Given the description of an element on the screen output the (x, y) to click on. 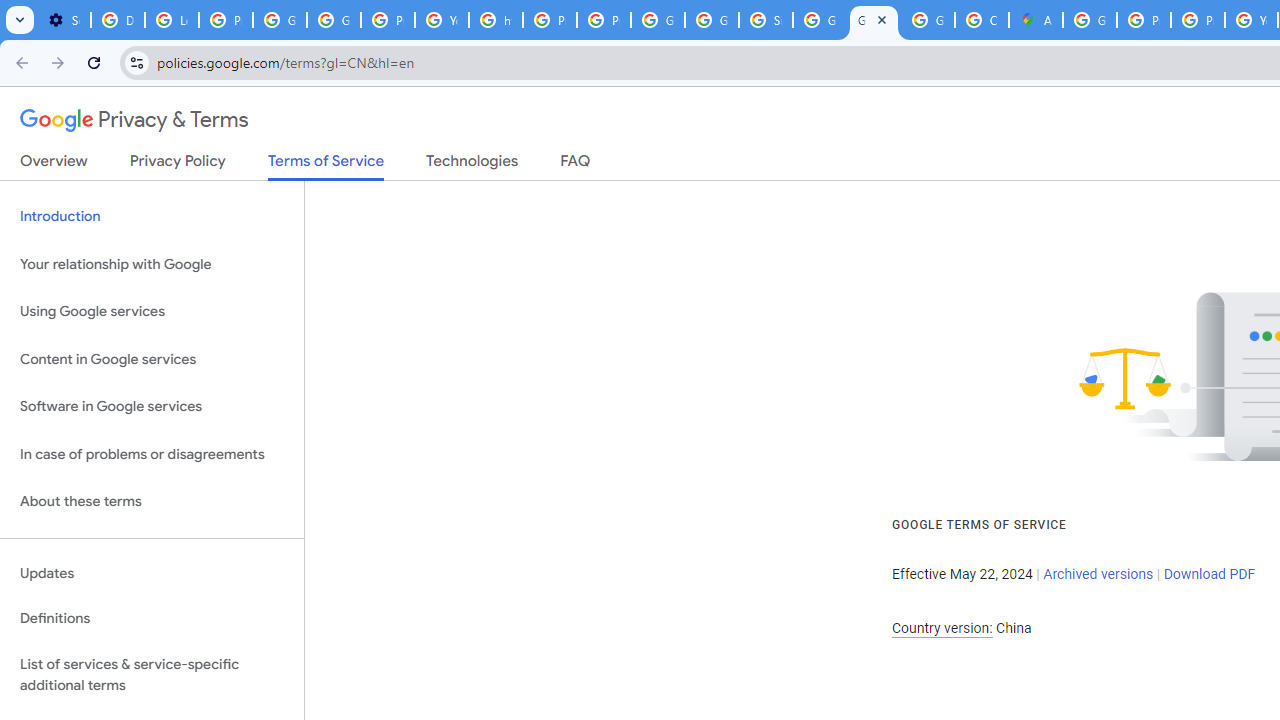
Using Google services (152, 312)
Google Account Help (280, 20)
Content in Google services (152, 358)
About these terms (152, 502)
Definitions (152, 619)
Download PDF (1209, 574)
Sign in - Google Accounts (765, 20)
Software in Google services (152, 407)
